Given the description of an element on the screen output the (x, y) to click on. 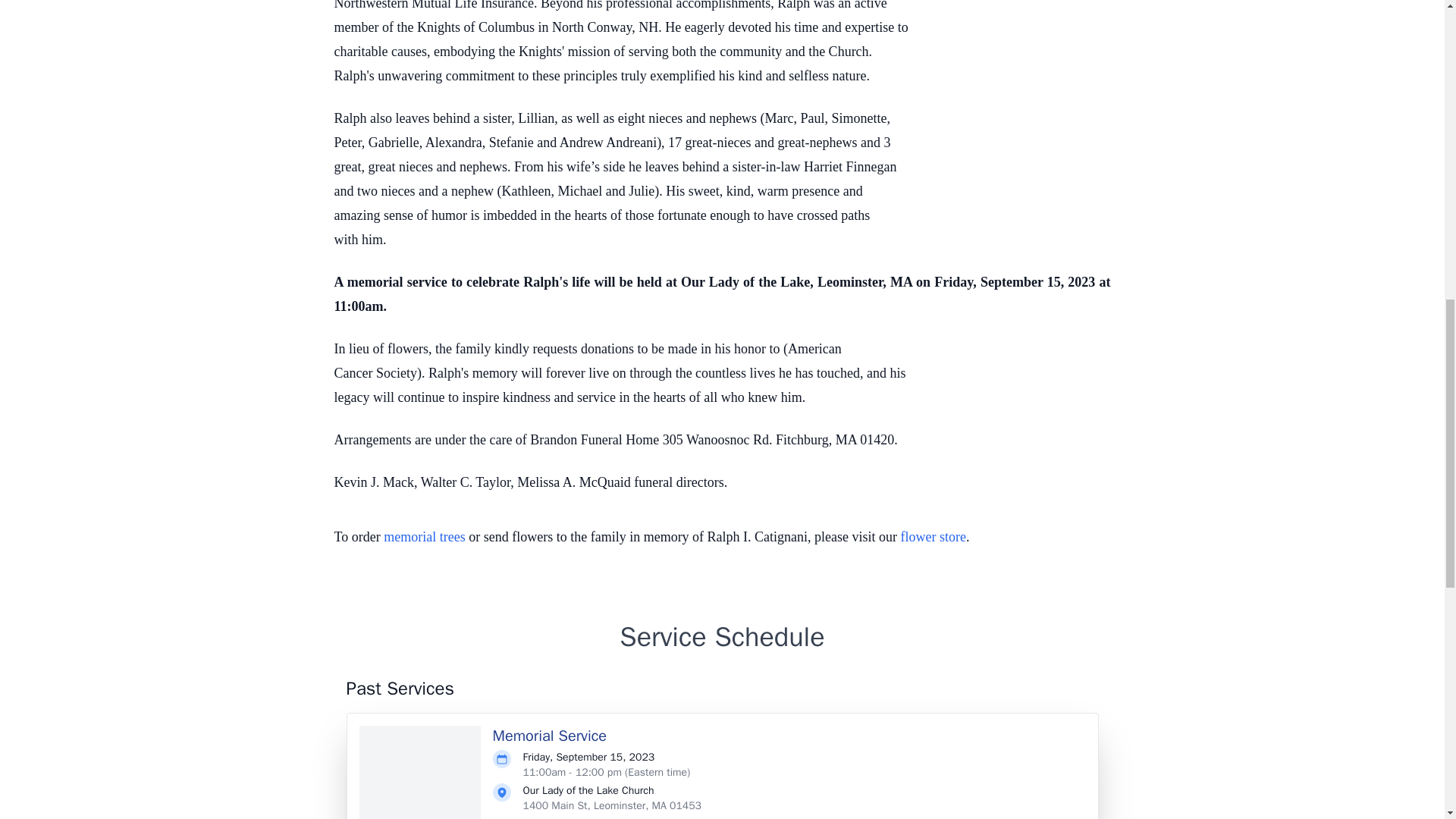
memorial trees (424, 536)
1400 Main St, Leominster, MA 01453 (611, 805)
flower store (933, 536)
